Given the description of an element on the screen output the (x, y) to click on. 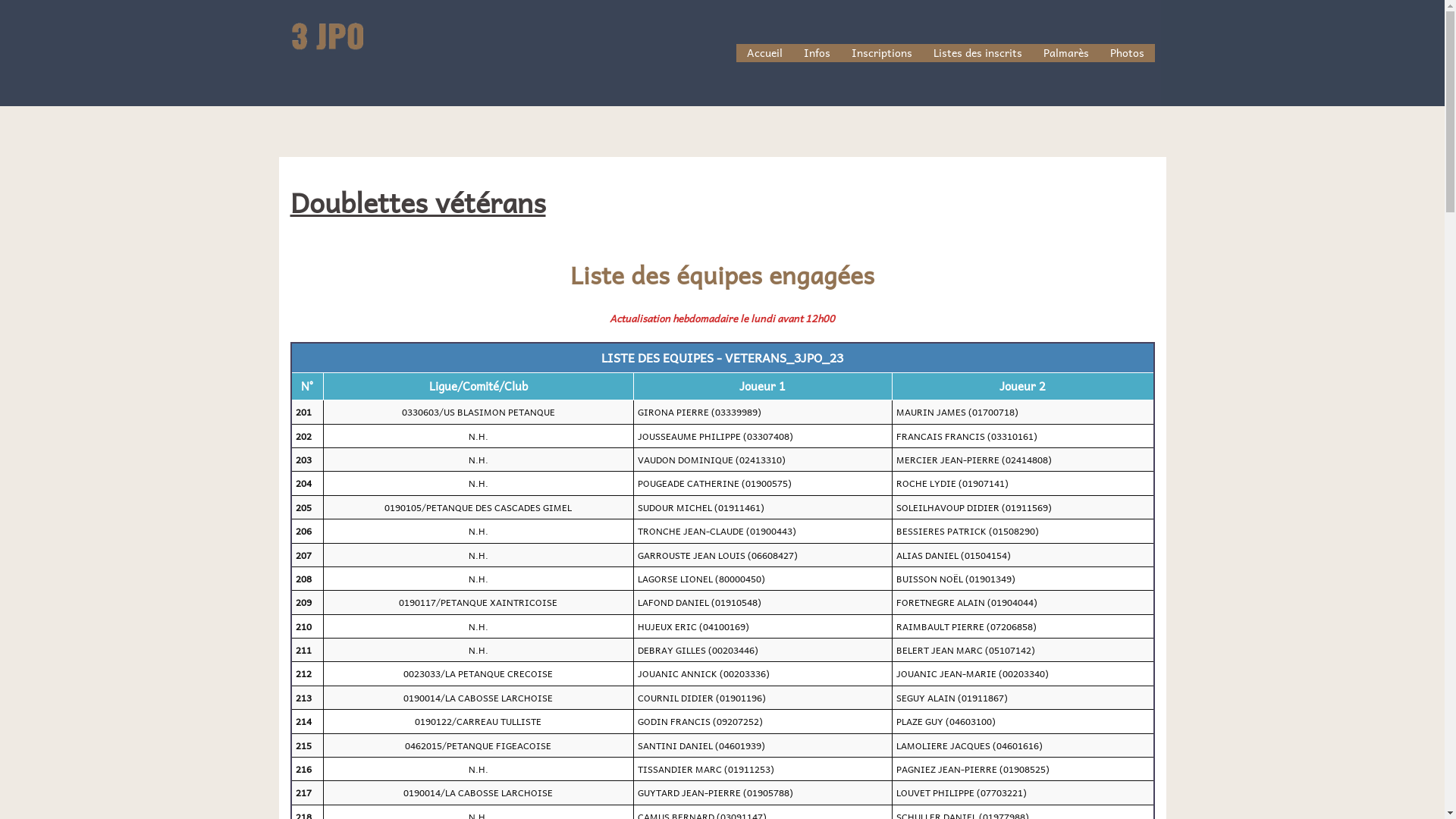
Inscriptions Element type: text (880, 52)
Photos Element type: text (1127, 52)
Infos Element type: text (816, 52)
3 JPO Element type: hover (327, 50)
Listes des inscrits Element type: text (976, 52)
Accueil Element type: text (763, 52)
